Given the description of an element on the screen output the (x, y) to click on. 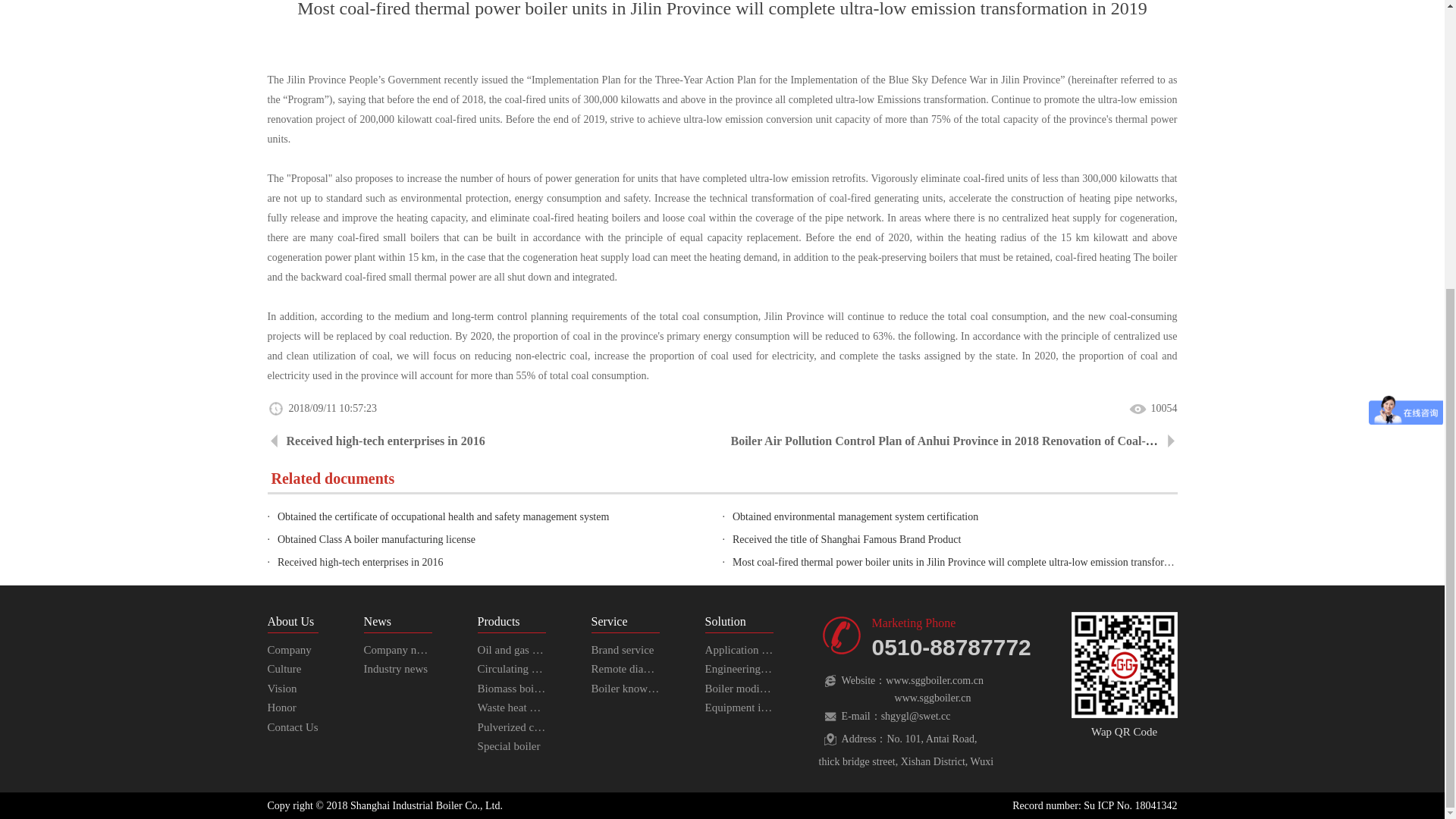
Obtained Class A boiler manufacturing license (372, 539)
Obtained environmental management system certification (851, 516)
Received the title of Shanghai Famous Brand Product (842, 539)
